Given the description of an element on the screen output the (x, y) to click on. 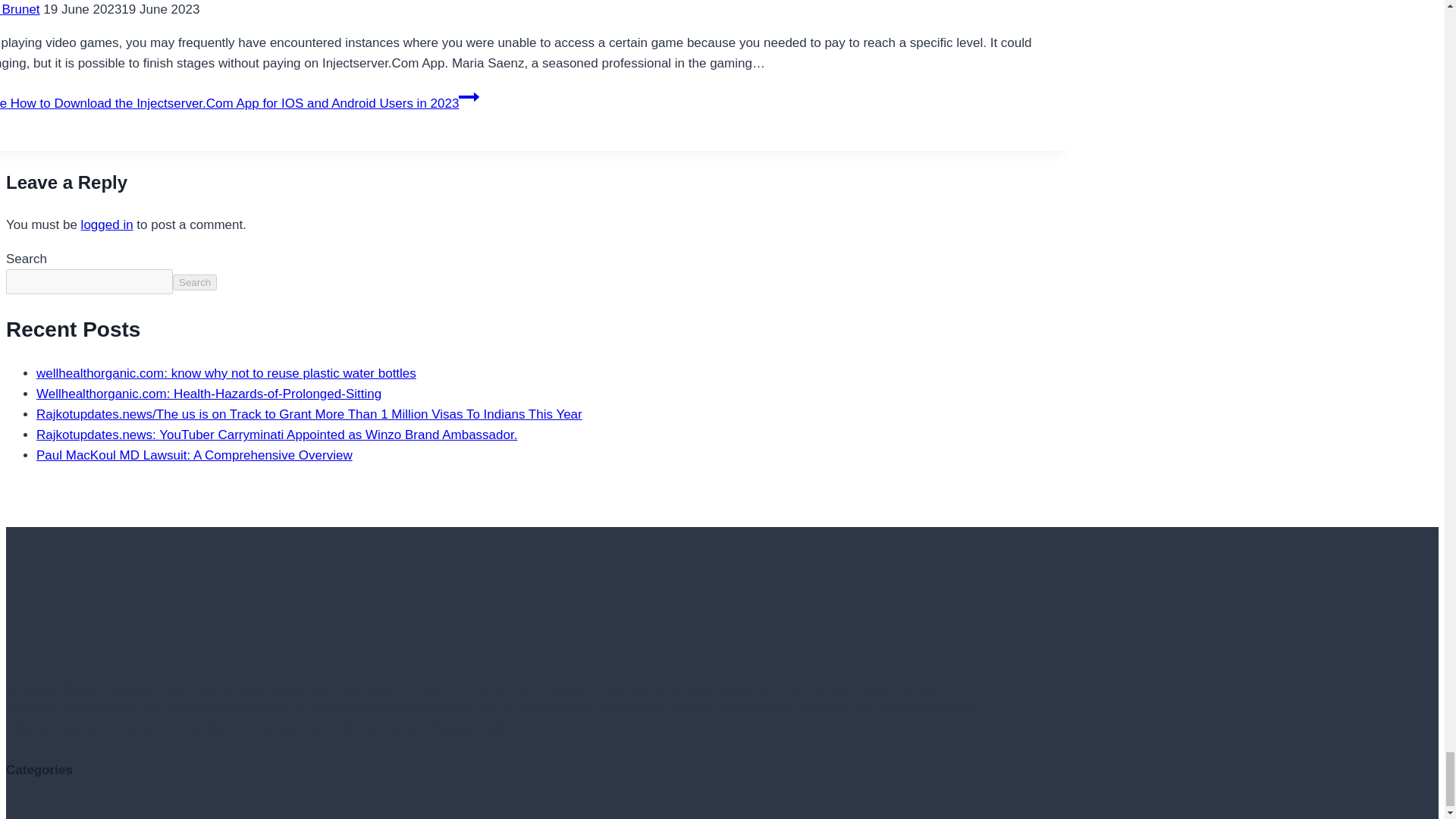
Continue (468, 96)
